Given the description of an element on the screen output the (x, y) to click on. 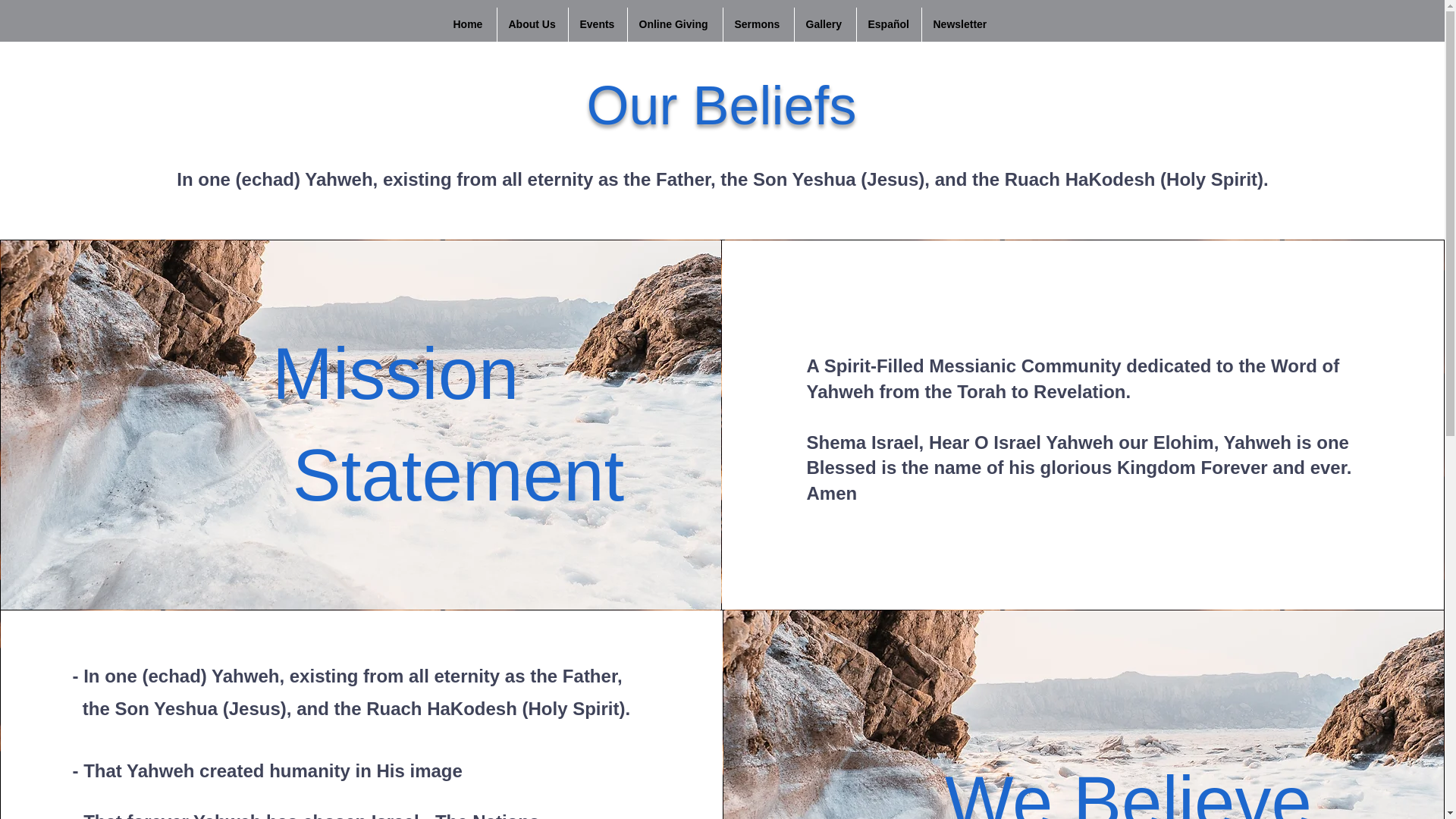
Newsletter (962, 24)
Sermons (758, 24)
Home (468, 24)
Events (598, 24)
About Us (532, 24)
Gallery (825, 24)
Online Giving (674, 24)
